Given the description of an element on the screen output the (x, y) to click on. 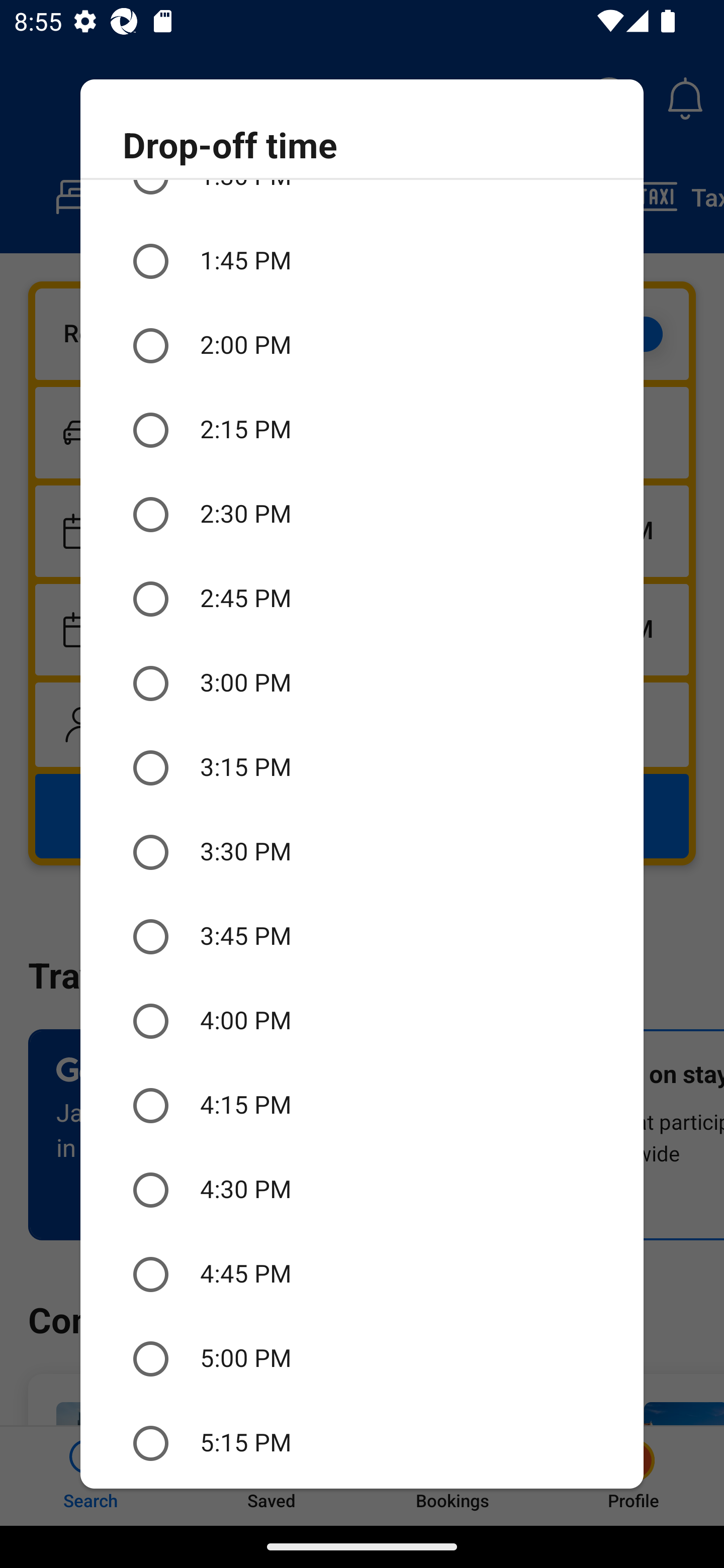
1:45 PM (361, 261)
2:00 PM (361, 345)
2:15 PM (361, 429)
2:30 PM (361, 513)
2:45 PM (361, 598)
3:00 PM (361, 683)
3:15 PM (361, 767)
3:30 PM (361, 852)
3:45 PM (361, 936)
4:00 PM (361, 1020)
4:15 PM (361, 1105)
4:30 PM (361, 1189)
4:45 PM (361, 1274)
5:00 PM (361, 1359)
5:15 PM (361, 1442)
